Given the description of an element on the screen output the (x, y) to click on. 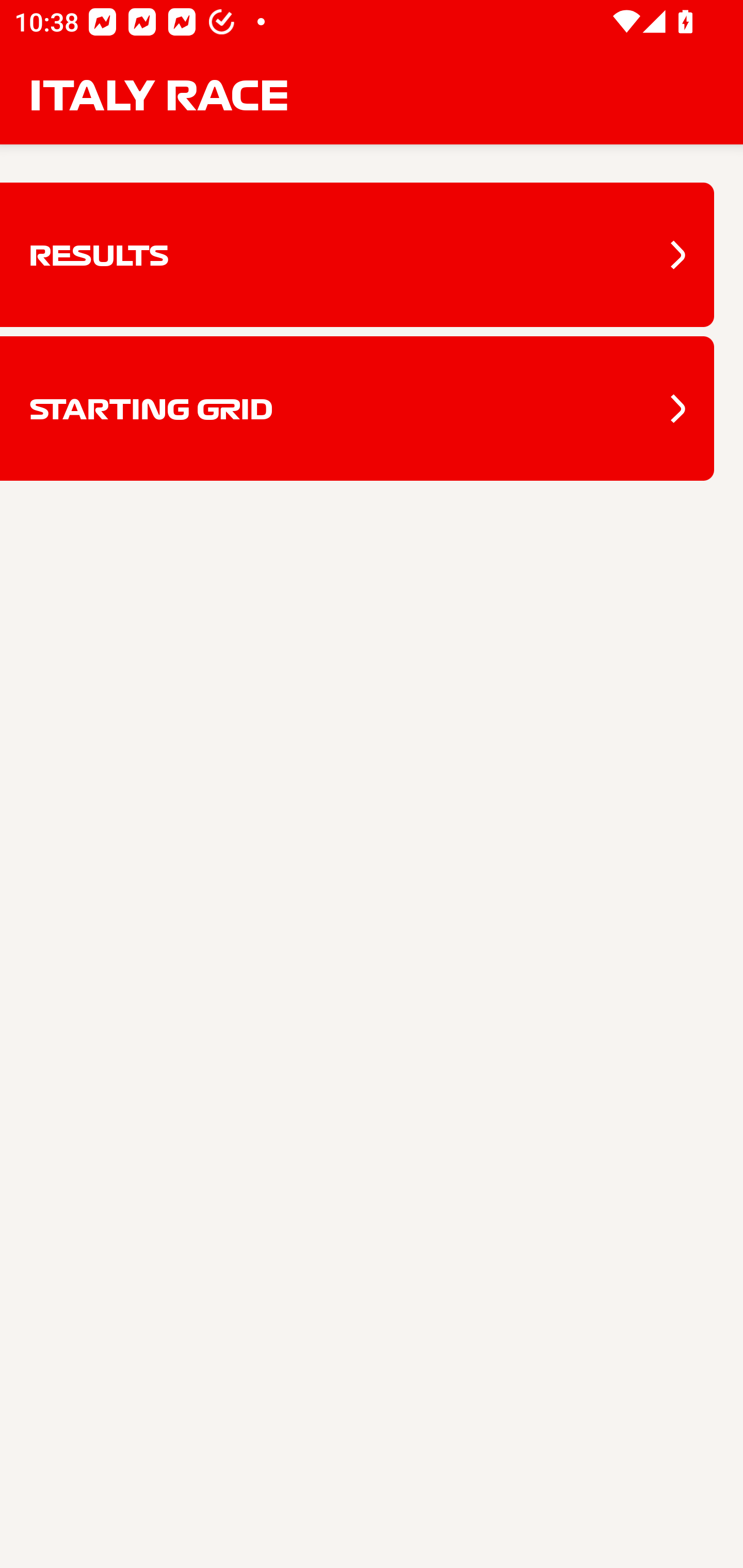
RESULTS (357, 254)
STARTING GRID (357, 408)
